Given the description of an element on the screen output the (x, y) to click on. 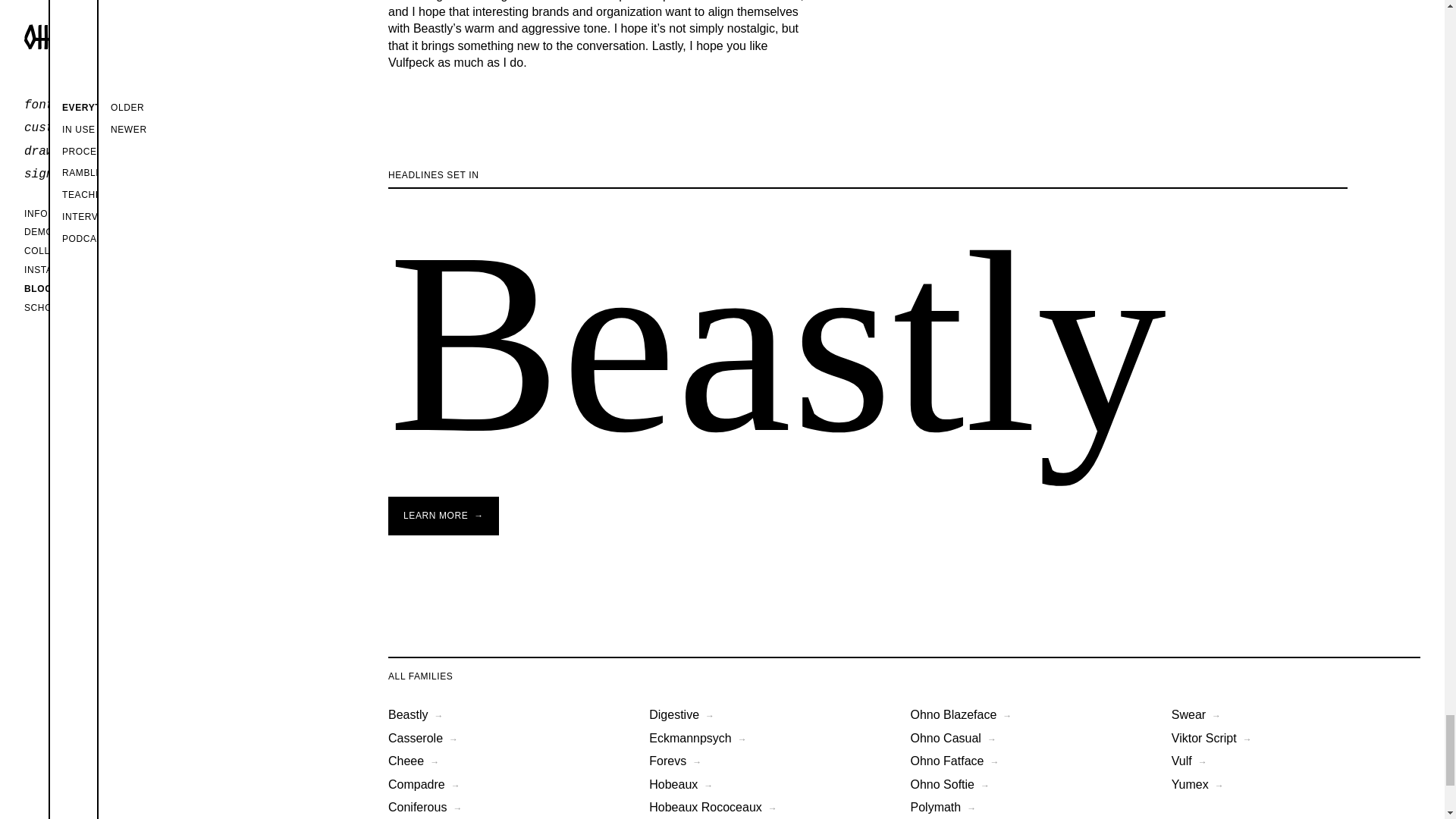
Eckmannpsych (697, 738)
Casserole (423, 738)
Compadre (424, 784)
Cheee (415, 714)
Coniferous (413, 760)
Digestive (424, 807)
